Given the description of an element on the screen output the (x, y) to click on. 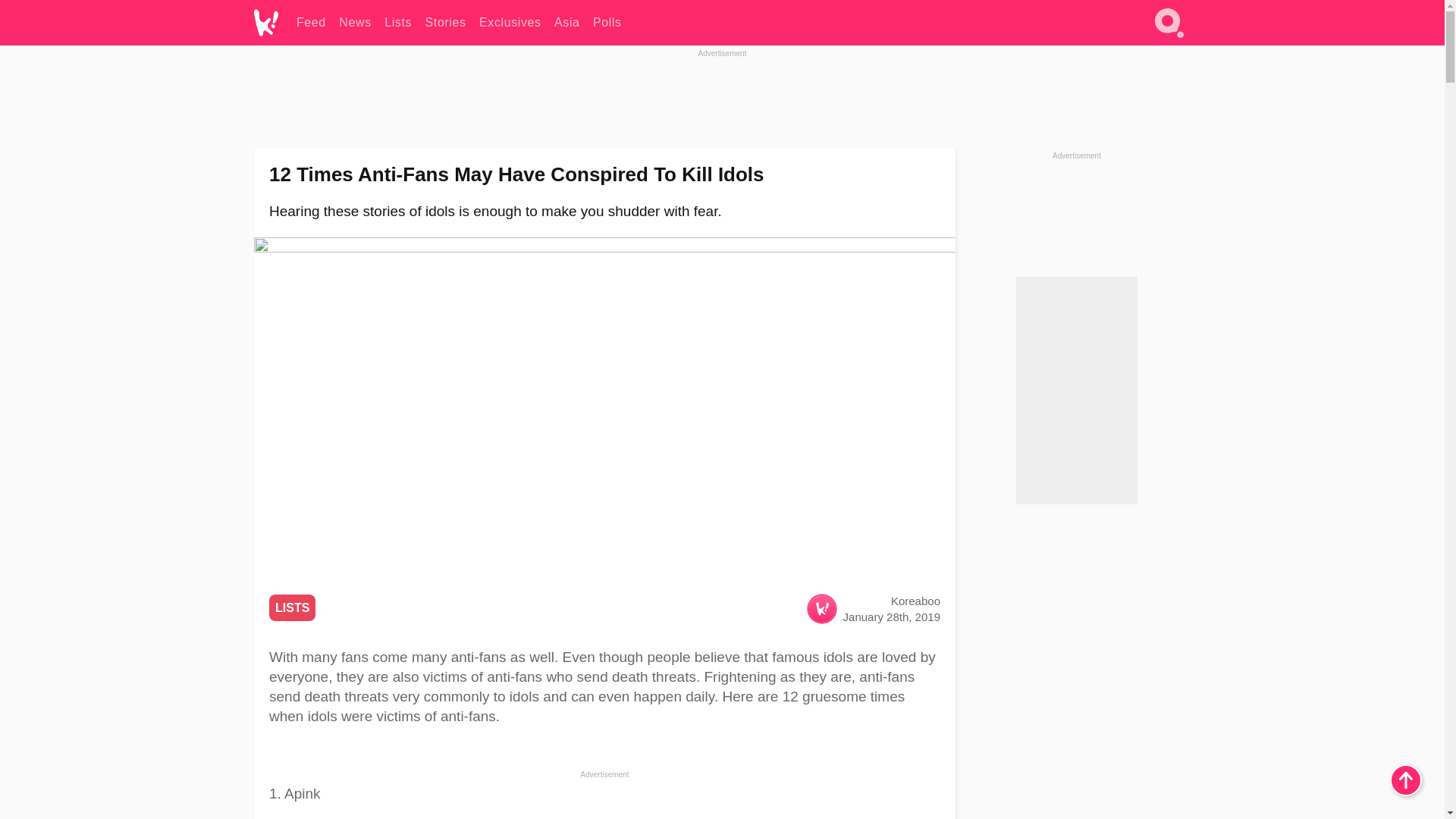
Asia (566, 22)
LISTS (292, 607)
Stories (445, 22)
Exclusives (510, 22)
News (355, 22)
Polls (606, 22)
Lists (398, 22)
Feed (311, 22)
